Given the description of an element on the screen output the (x, y) to click on. 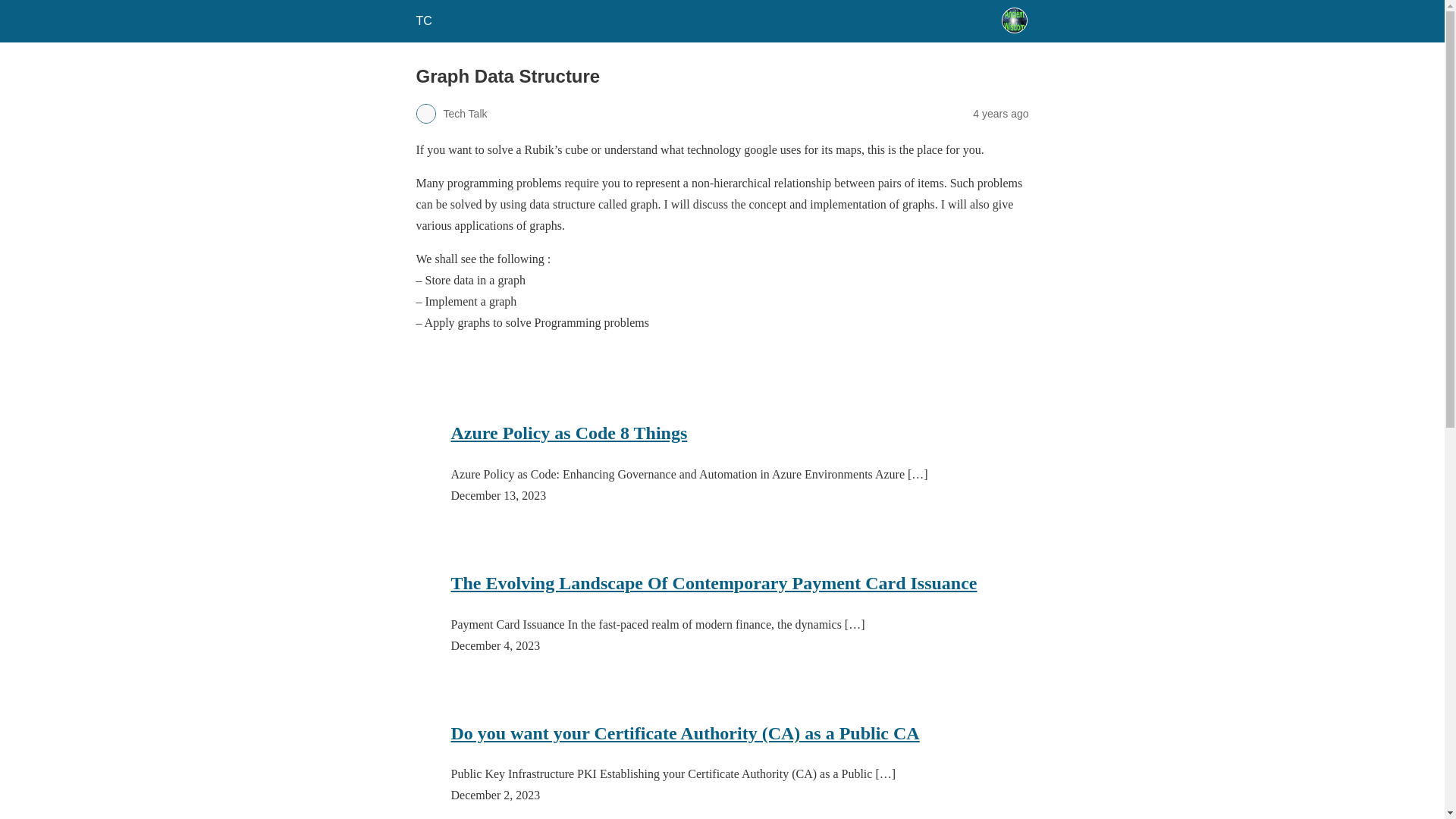
The Evolving Landscape Of Contemporary Payment Card Issuance (712, 582)
Azure Policy as Code 8 Things (568, 432)
TC (422, 20)
